Given the description of an element on the screen output the (x, y) to click on. 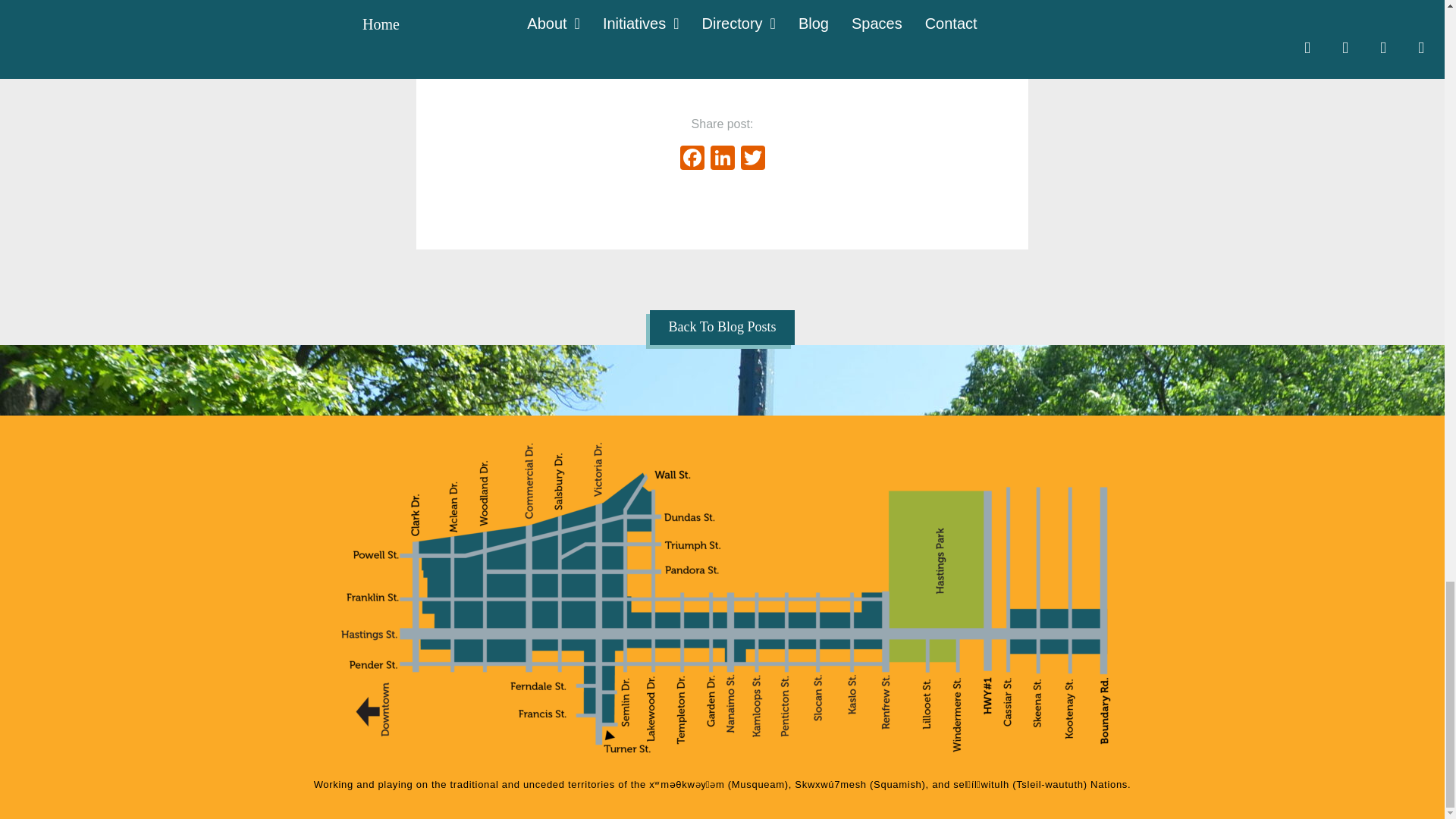
LinkedIn (721, 159)
Twitter (751, 159)
Facebook (691, 159)
